Given the description of an element on the screen output the (x, y) to click on. 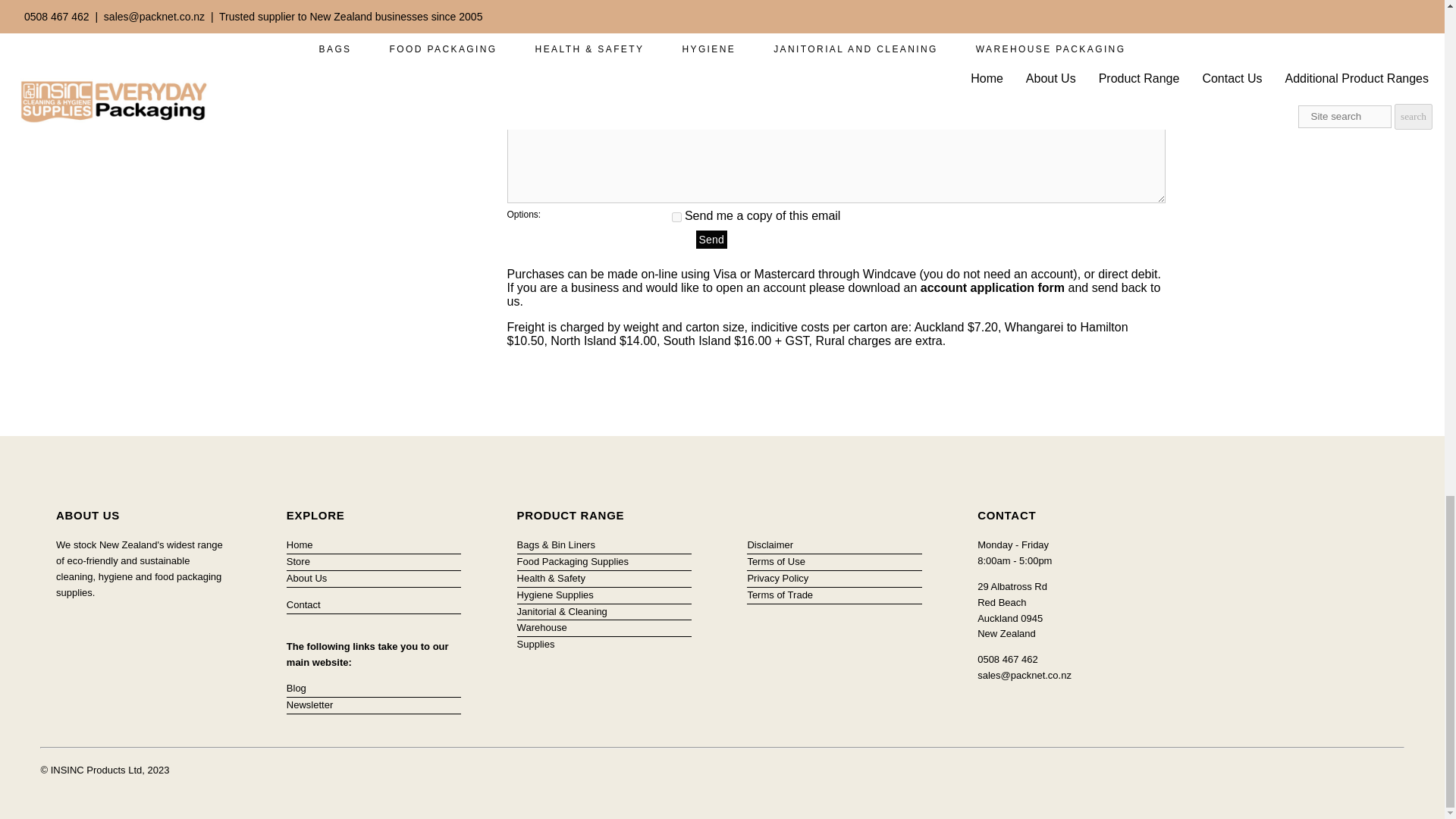
Product Enquiry - Mini Dish Leaf - Epicure (918, 99)
1 (676, 216)
Send (711, 239)
